Given the description of an element on the screen output the (x, y) to click on. 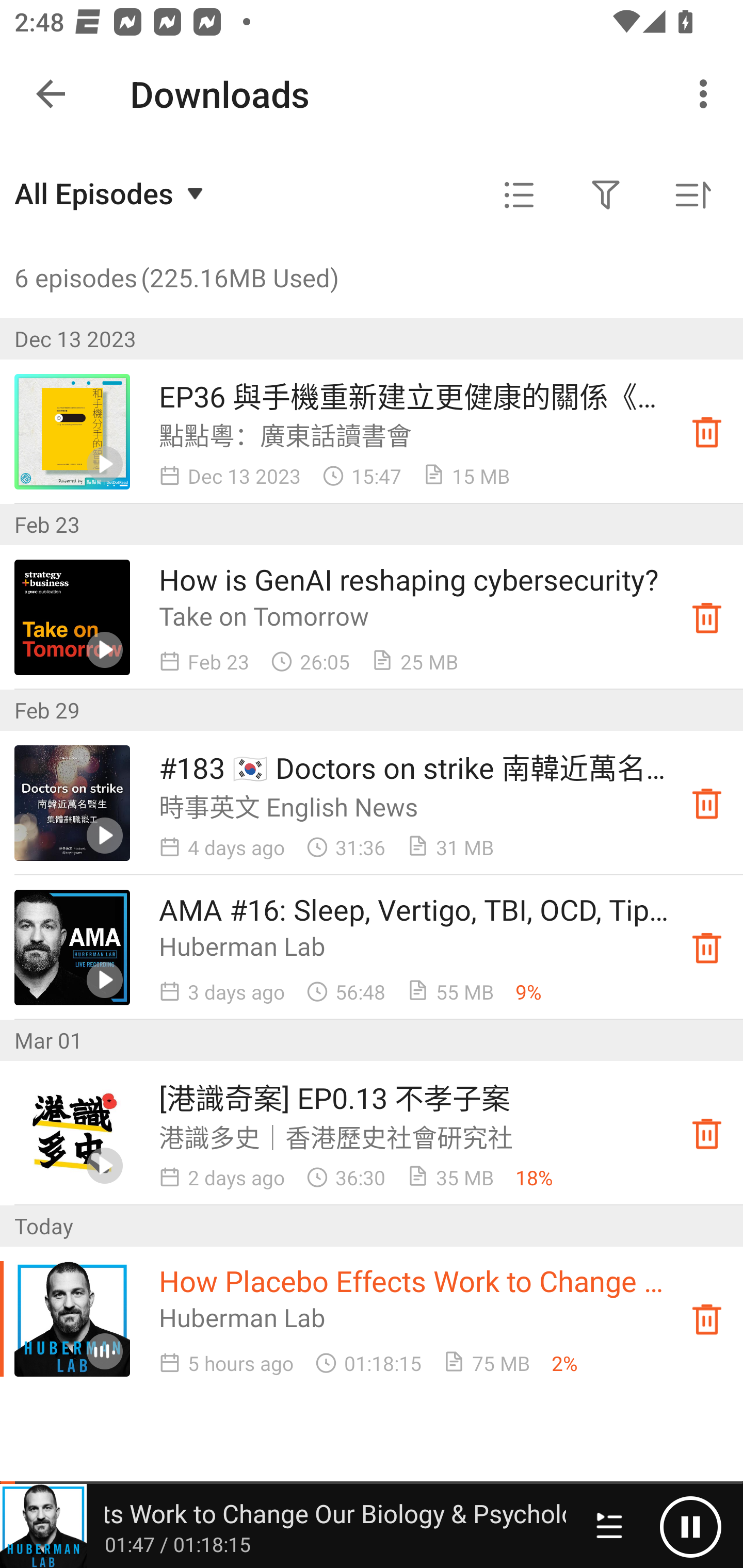
Navigate up (50, 93)
More options (706, 93)
All Episodes (111, 192)
 (518, 195)
 (605, 195)
 Sorted by oldest first (692, 195)
Downloaded (706, 431)
Downloaded (706, 617)
Downloaded (706, 802)
Downloaded (706, 947)
Downloaded (706, 1133)
Downloaded (706, 1318)
Pause (690, 1526)
